Given the description of an element on the screen output the (x, y) to click on. 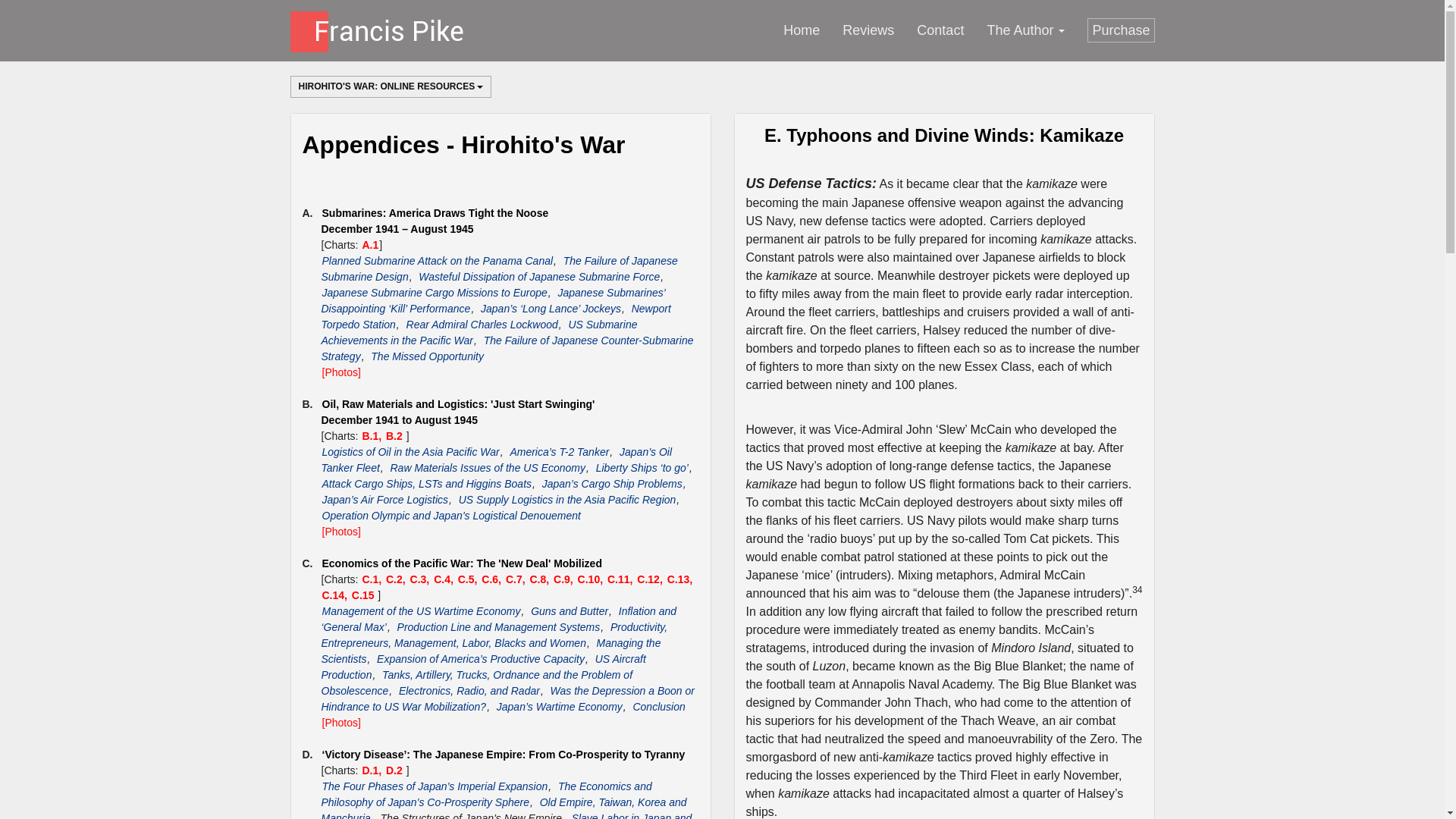
The Failure of Japanese Submarine Design (499, 268)
Home (801, 30)
B.2 (395, 436)
Japanese Submarine Cargo Missions to Europe (434, 292)
Purchase (1120, 30)
The Failure of Japanese Counter-Submarine Strategy (507, 348)
The Author (968, 30)
Wasteful Dissipation of Japanese Submarine Force (1025, 30)
Rear Admiral Charles Lockwood (539, 276)
A.1 (482, 324)
HIROHITO'S WAR: ONLINE RESOURCES (369, 244)
The Missed Opportunity (390, 86)
Contact (426, 356)
Planned Submarine Attack on the Panama Canal (940, 30)
